Given the description of an element on the screen output the (x, y) to click on. 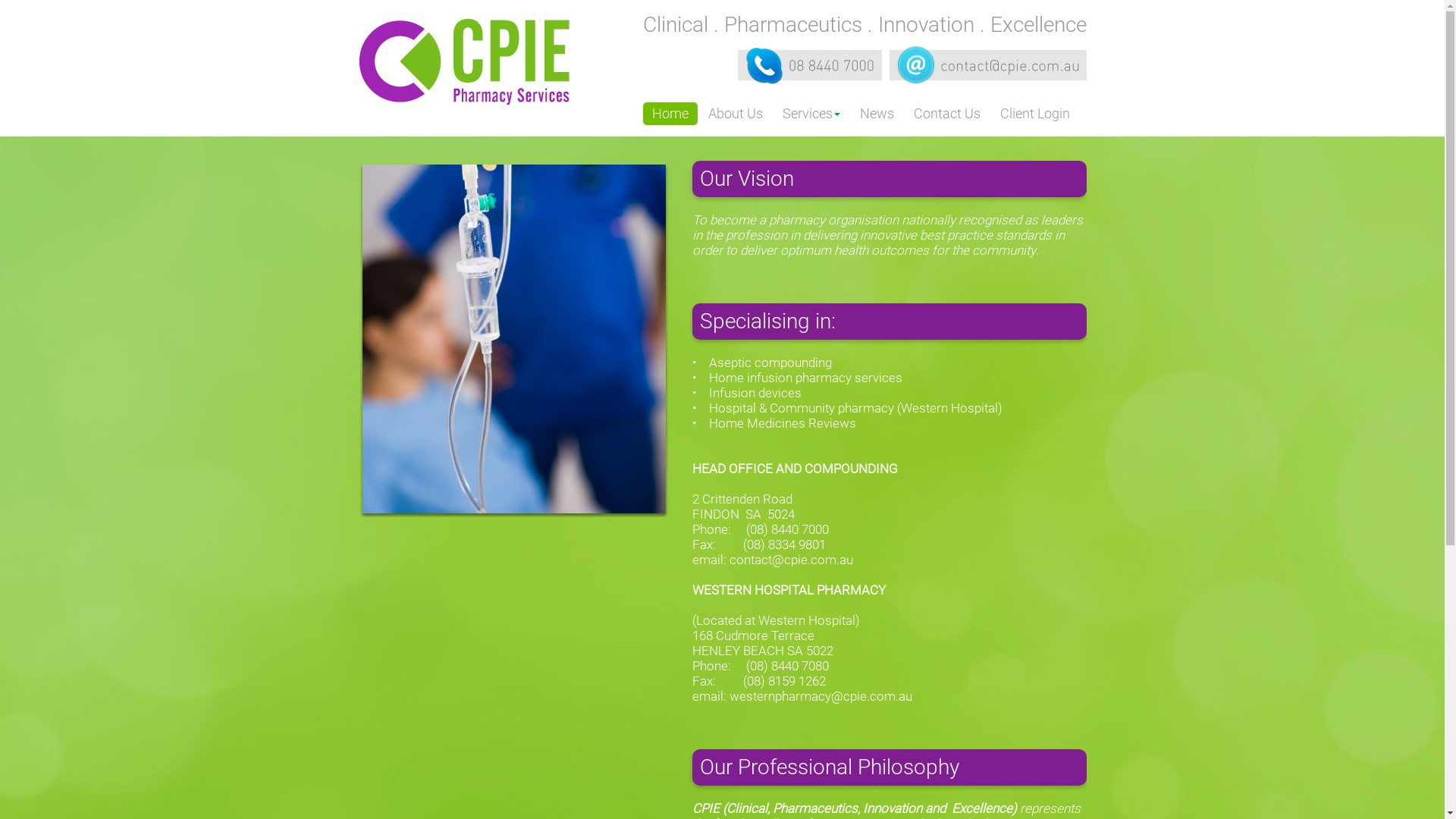
Client Login Element type: text (1034, 113)
westernpharmacy@cpie.com.au Element type: text (820, 695)
Contact Us Element type: text (945, 113)
News Element type: text (876, 113)
Home Element type: text (670, 113)
Services Element type: text (811, 113)
About Us Element type: text (735, 113)
contact@cpie.com.au Element type: text (791, 559)
